Given the description of an element on the screen output the (x, y) to click on. 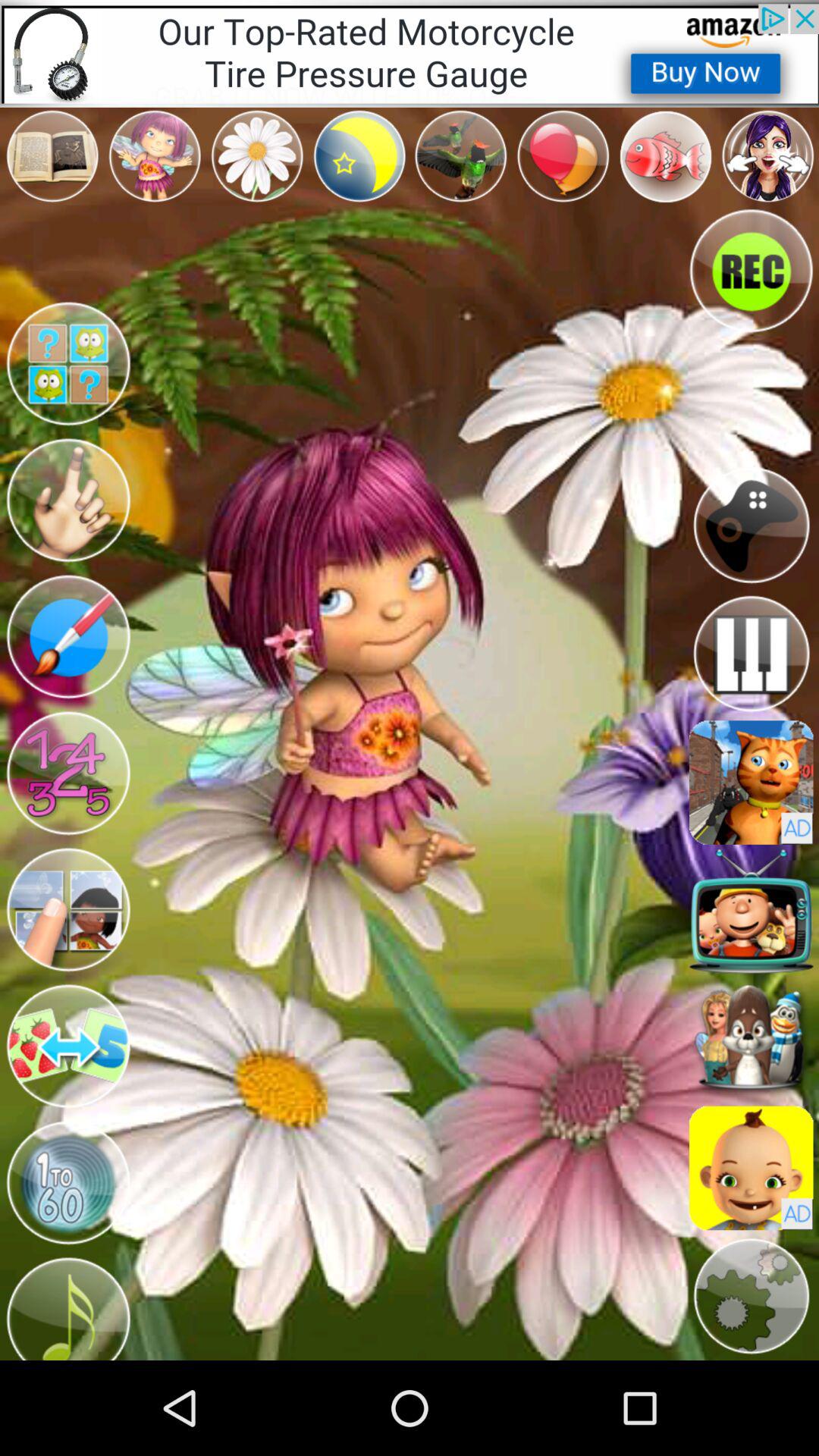
setting the option (751, 1296)
